Given the description of an element on the screen output the (x, y) to click on. 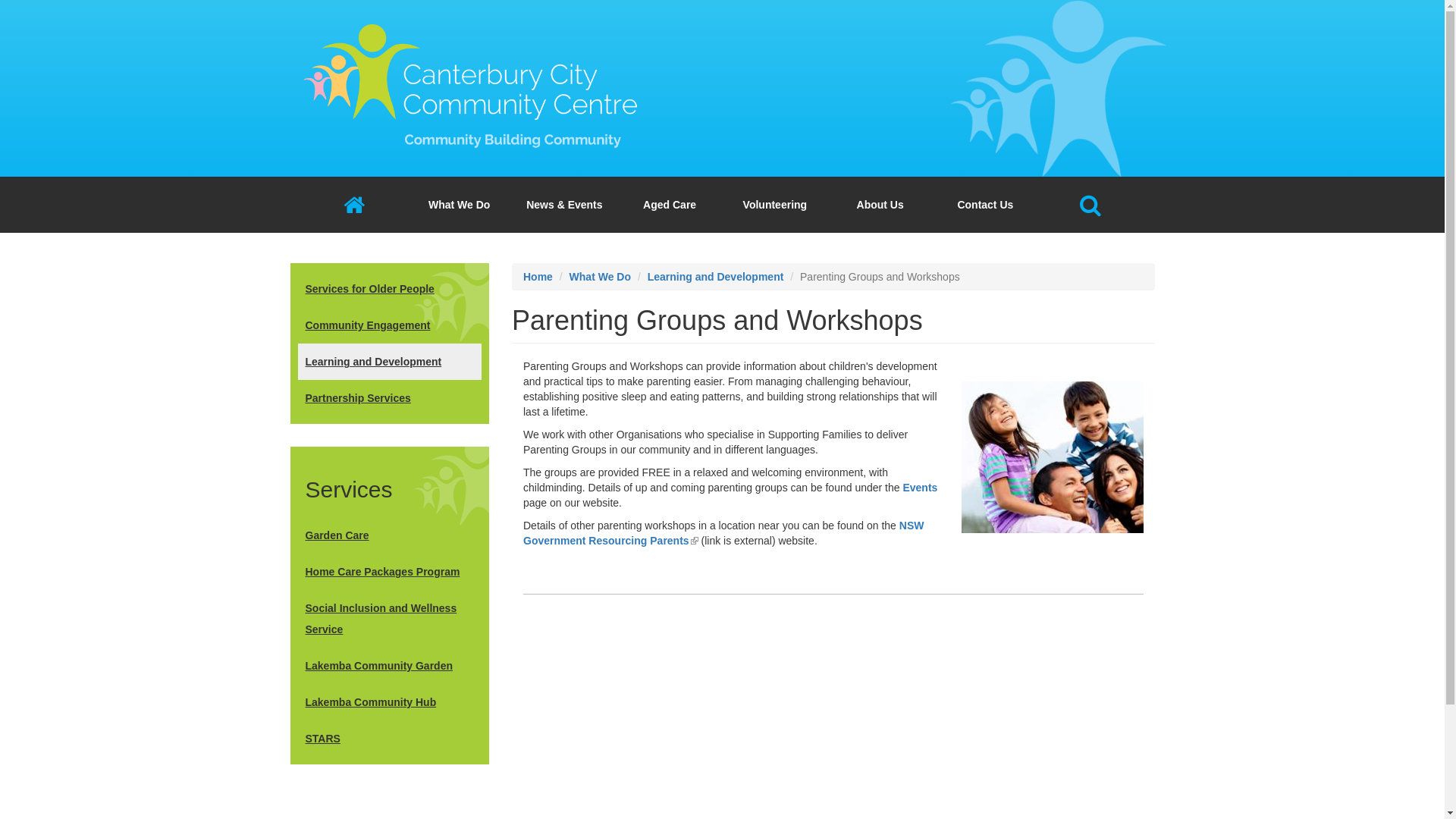
Aged Care Element type: text (669, 204)
About Us Element type: text (879, 204)
Lakemba Community Garden Element type: text (389, 665)
News & Events Element type: text (564, 204)
Services for Older People Element type: text (389, 288)
Partnership Services Element type: text (389, 397)
Home Element type: hover (470, 75)
Social Inclusion and Wellness Service Element type: text (389, 618)
What We Do Element type: text (458, 204)
Learning and Development Element type: text (389, 361)
What We Do Element type: text (599, 276)
NSW Government Resourcing Parents
(link is external) Element type: text (723, 532)
Volunteering Element type: text (774, 204)
Learning and Development Element type: text (715, 276)
STARS Element type: text (389, 738)
Lakemba Community Hub Element type: text (389, 702)
Home Care Packages Program Element type: text (389, 571)
Contact Us Element type: text (985, 204)
Skip to main content Element type: text (0, 0)
Events Element type: text (919, 487)
Garden Care Element type: text (389, 535)
Home Element type: text (537, 276)
Community Engagement Element type: text (389, 325)
